Given the description of an element on the screen output the (x, y) to click on. 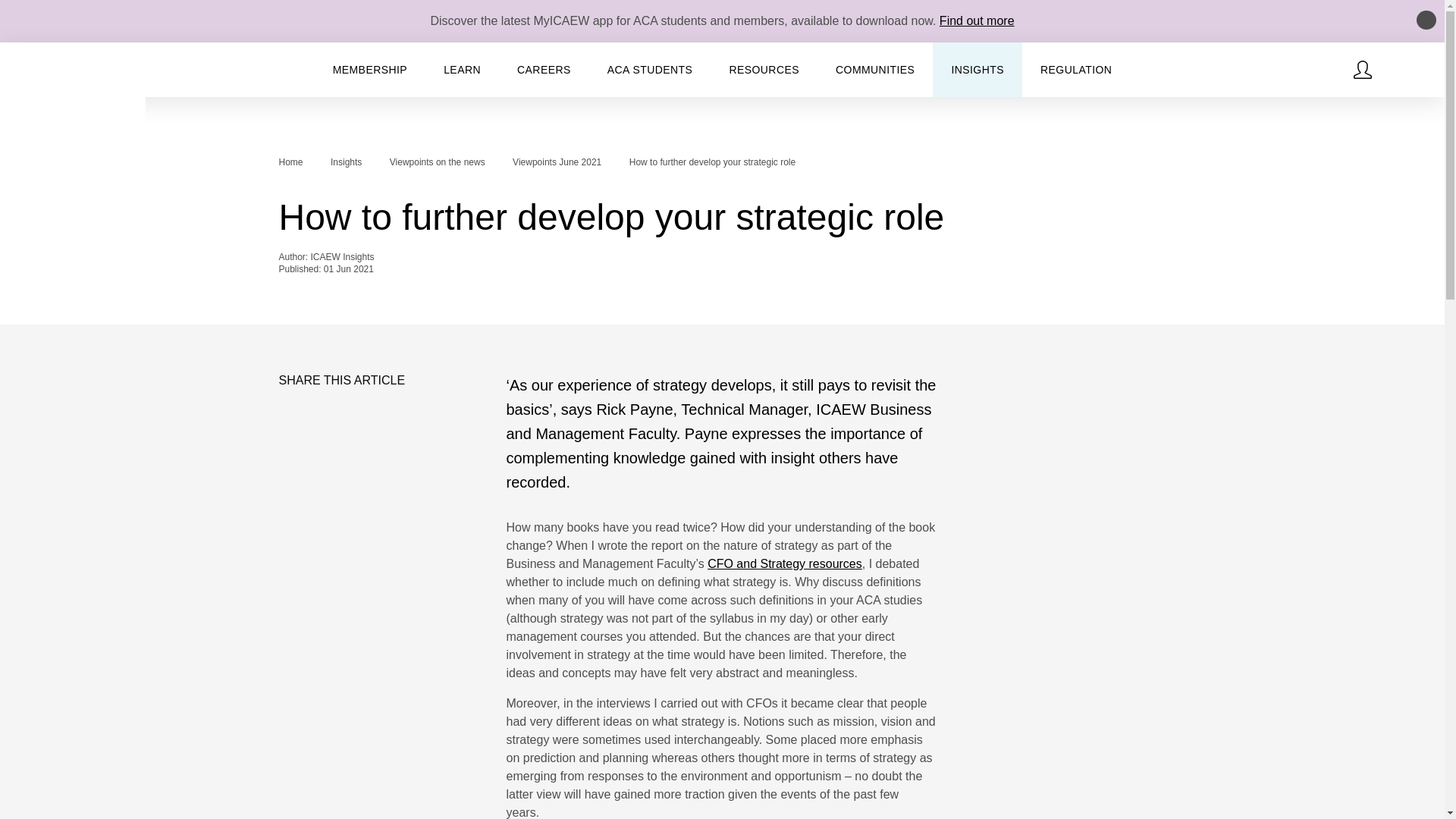
Membership (370, 69)
MEMBERSHIP (370, 69)
Find out more (976, 20)
Home (72, 96)
